Given the description of an element on the screen output the (x, y) to click on. 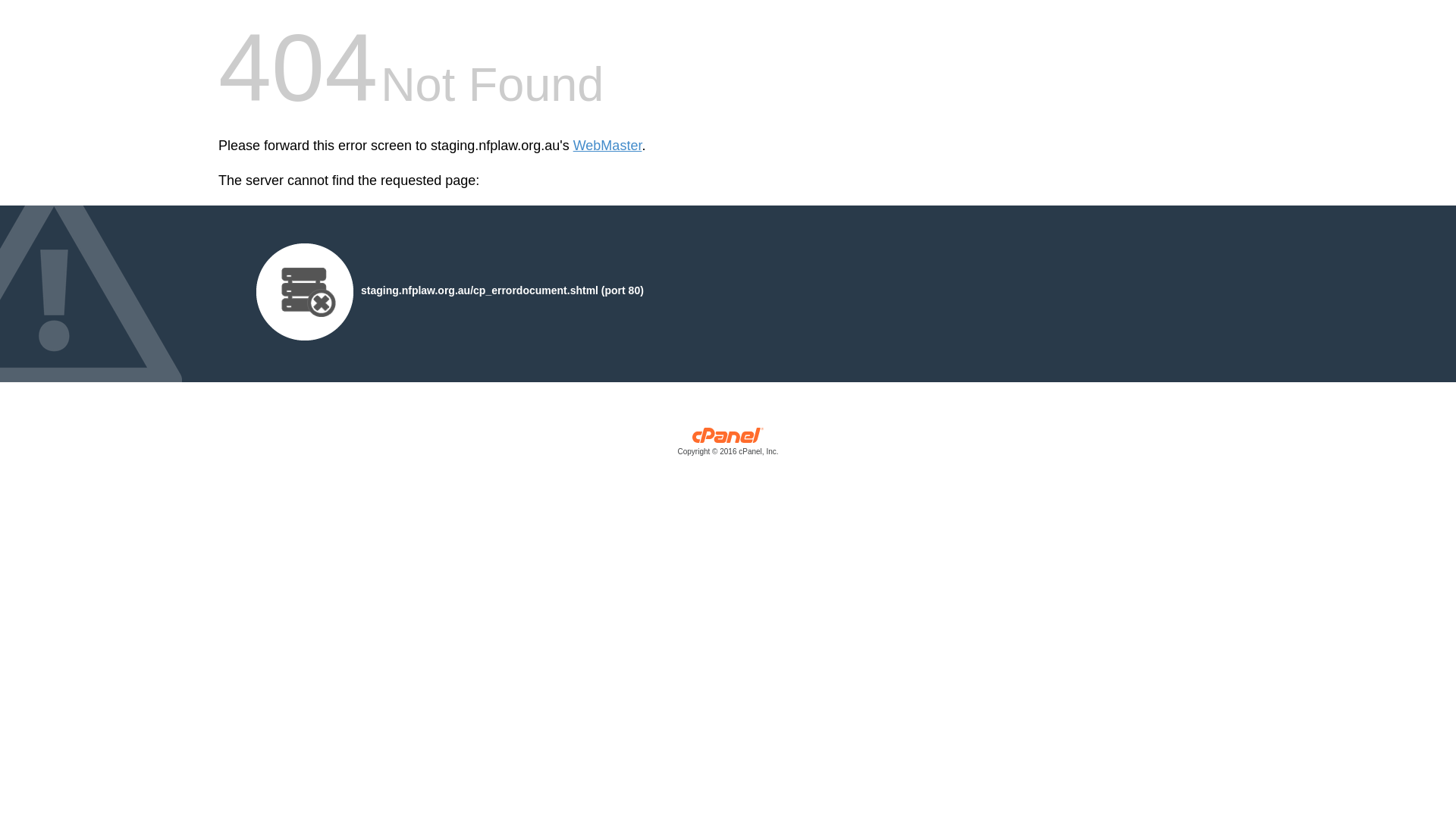
WebMaster Element type: text (607, 145)
